Given the description of an element on the screen output the (x, y) to click on. 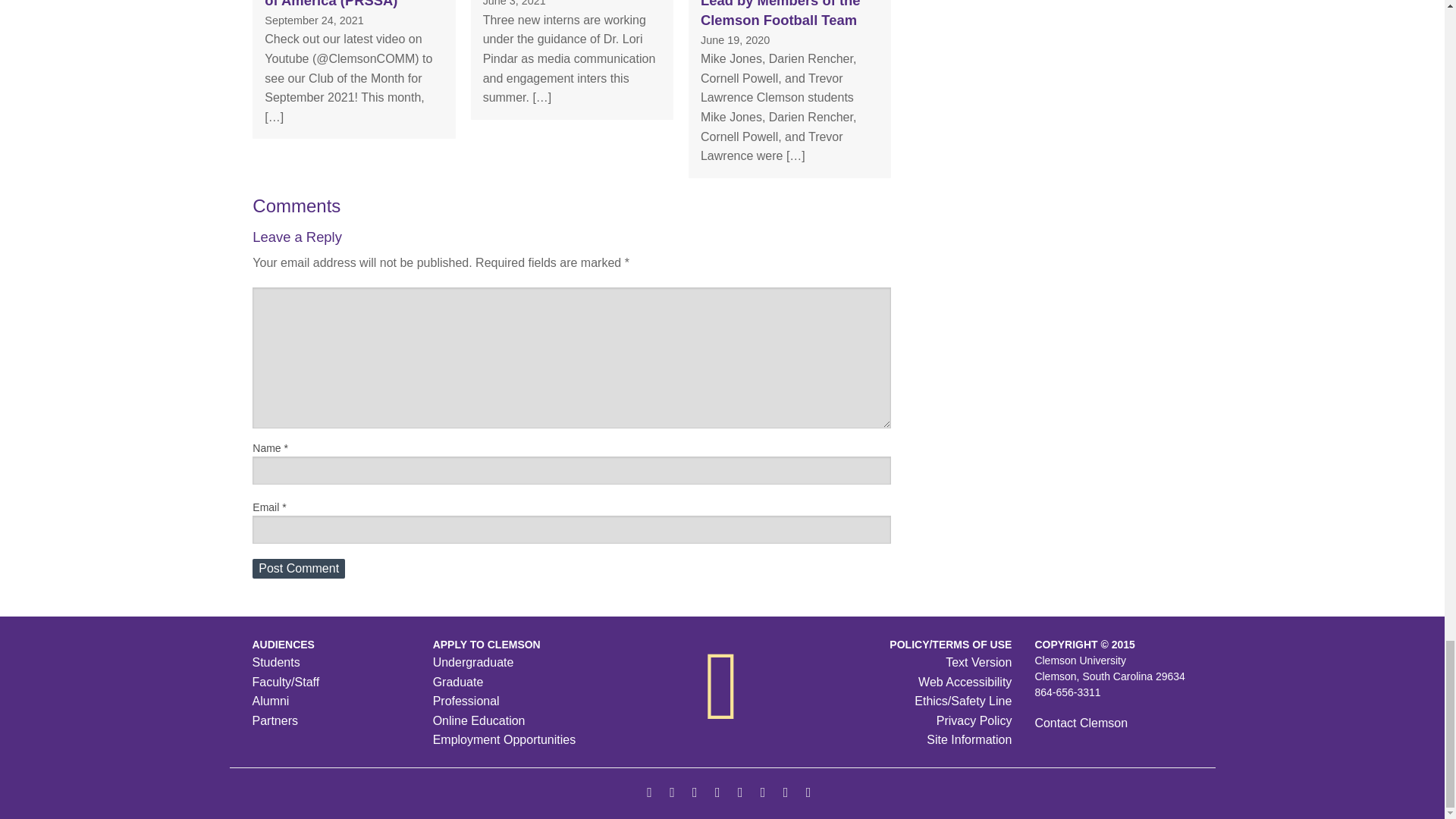
Post Comment (298, 568)
